Given the description of an element on the screen output the (x, y) to click on. 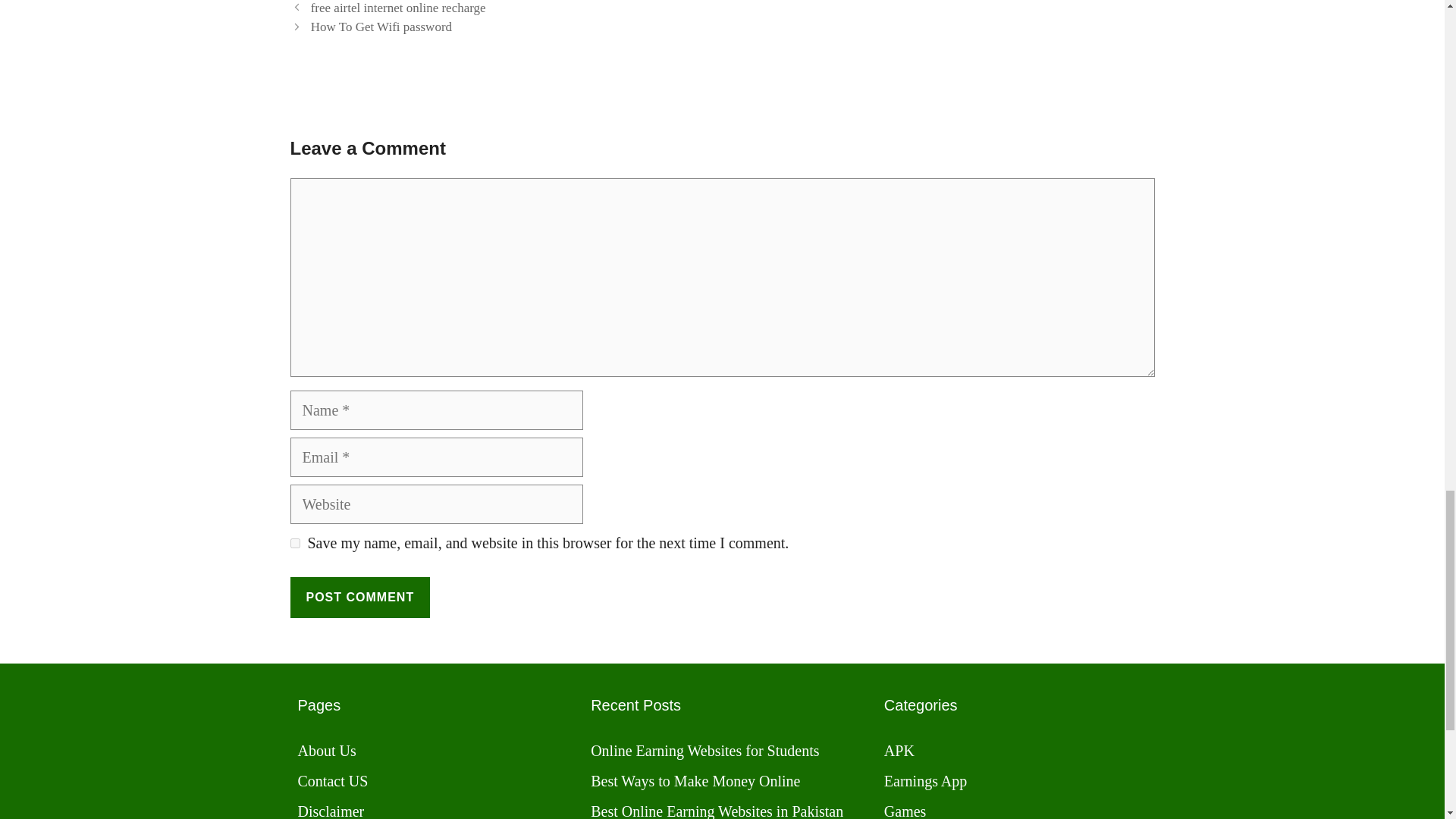
Disclaimer (330, 811)
About Us (326, 750)
Online Earning Websites for Students (704, 750)
Contact US (332, 781)
Post Comment (359, 597)
Best Online Earning Websites in Pakistan (717, 811)
yes (294, 542)
Games (904, 811)
APK (898, 750)
Post Comment (359, 597)
How To Get Wifi password (381, 26)
Earnings App (924, 781)
free airtel internet online recharge (398, 7)
Best Ways to Make Money Online (695, 781)
